Given the description of an element on the screen output the (x, y) to click on. 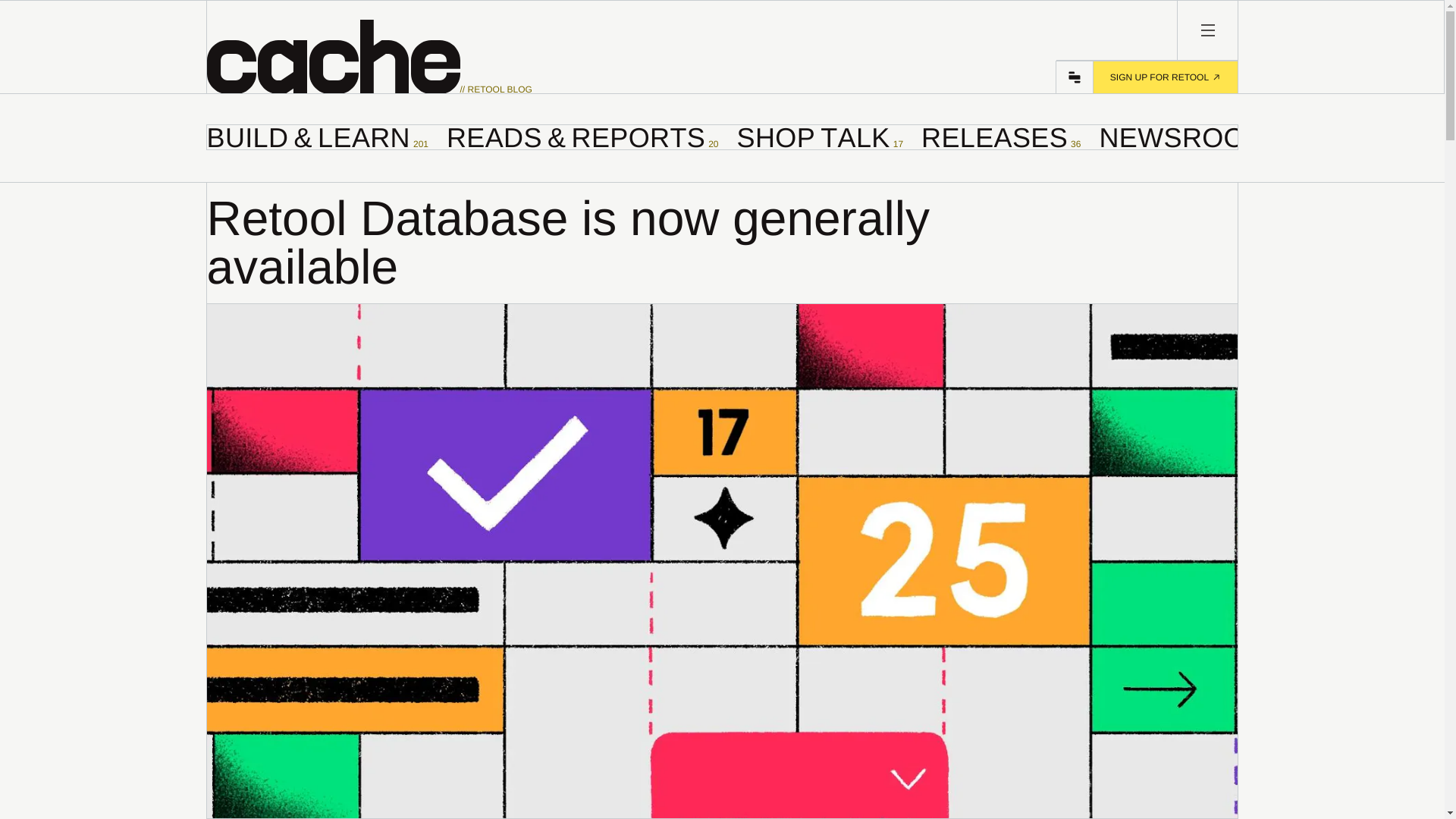
menu button (1000, 136)
Retool Home (1190, 136)
SIGN UP FOR RETOOL (1206, 30)
